Given the description of an element on the screen output the (x, y) to click on. 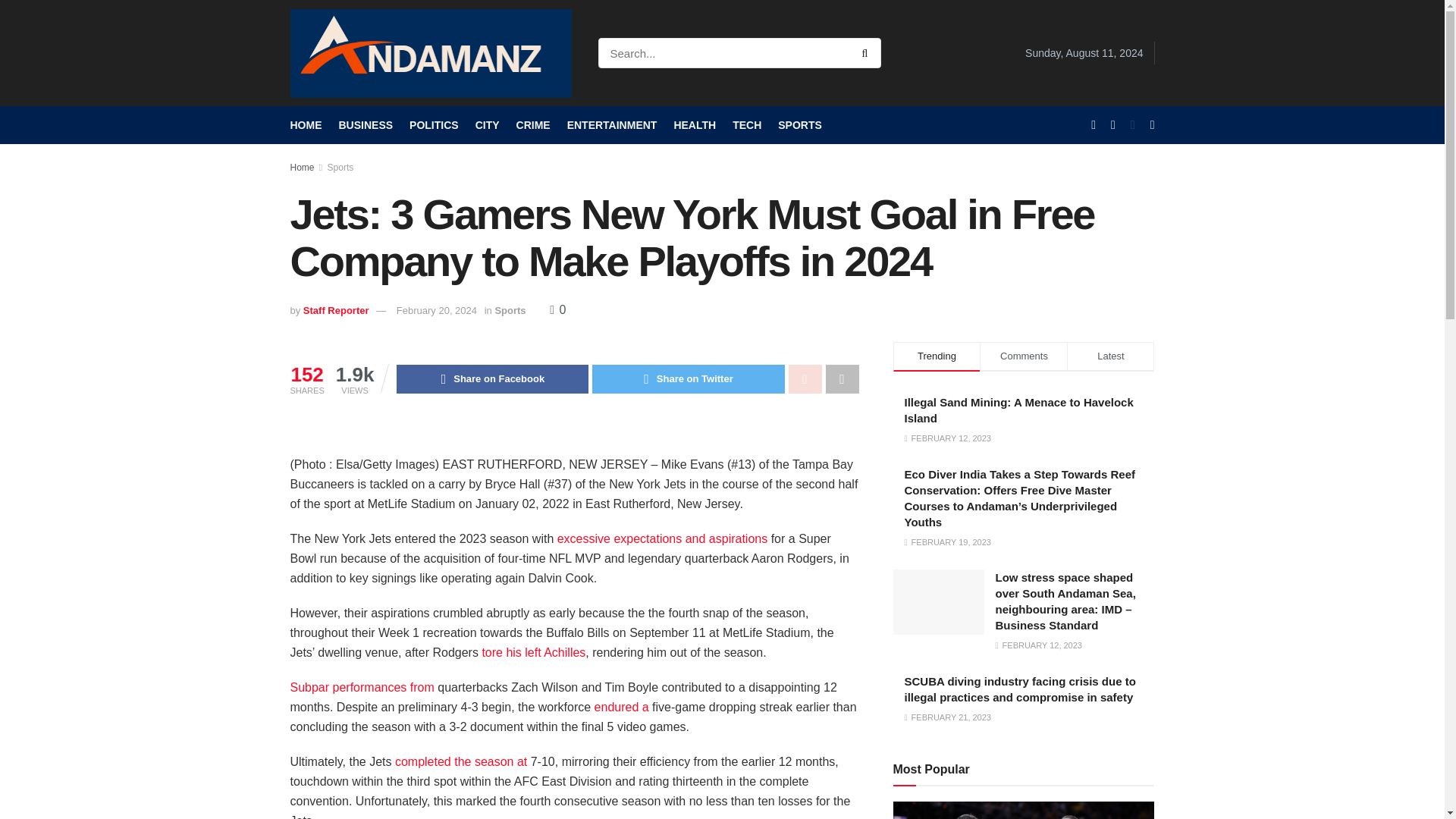
Share on Facebook (492, 378)
POLITICS (433, 125)
Home (301, 167)
Sports (510, 310)
Sports (340, 167)
HEALTH (694, 125)
CRIME (533, 125)
Staff Reporter (335, 310)
BUSINESS (365, 125)
SPORTS (799, 125)
